Given the description of an element on the screen output the (x, y) to click on. 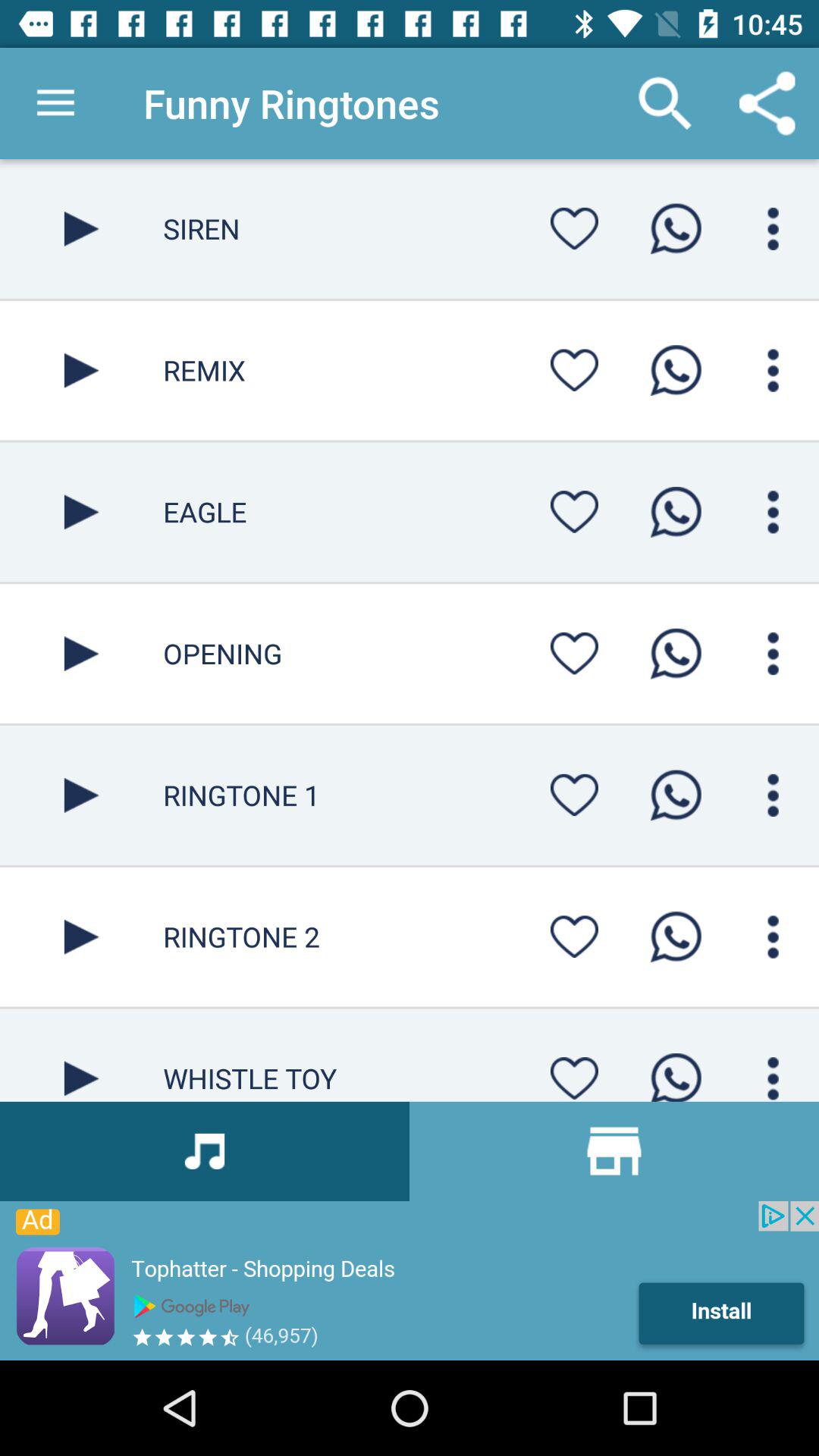
share on whatsapp (675, 370)
